Given the description of an element on the screen output the (x, y) to click on. 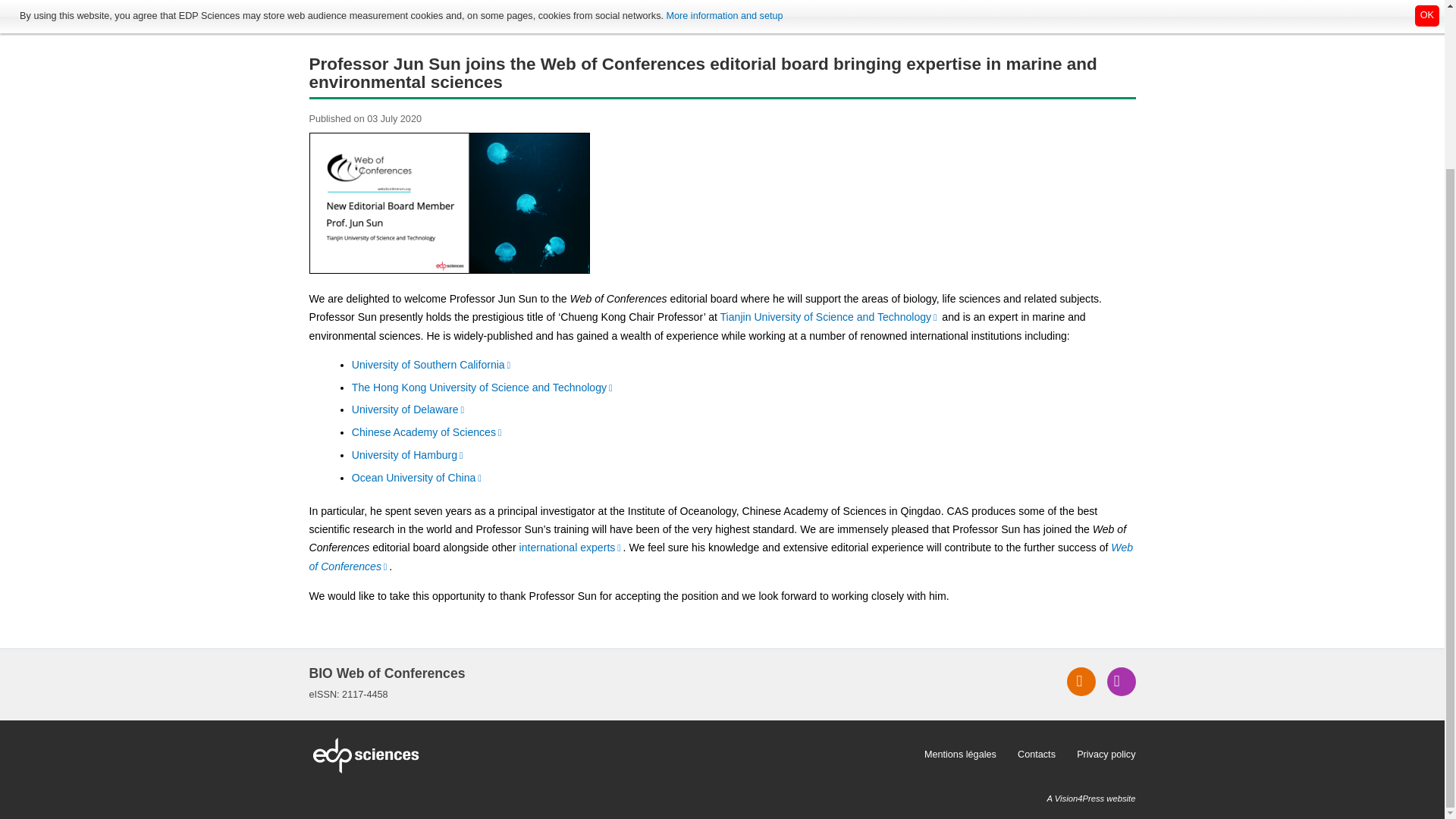
EDP Sciences website (611, 754)
Access our RSS feeds (1081, 681)
Register to the journal email alert (1120, 681)
